Given the description of an element on the screen output the (x, y) to click on. 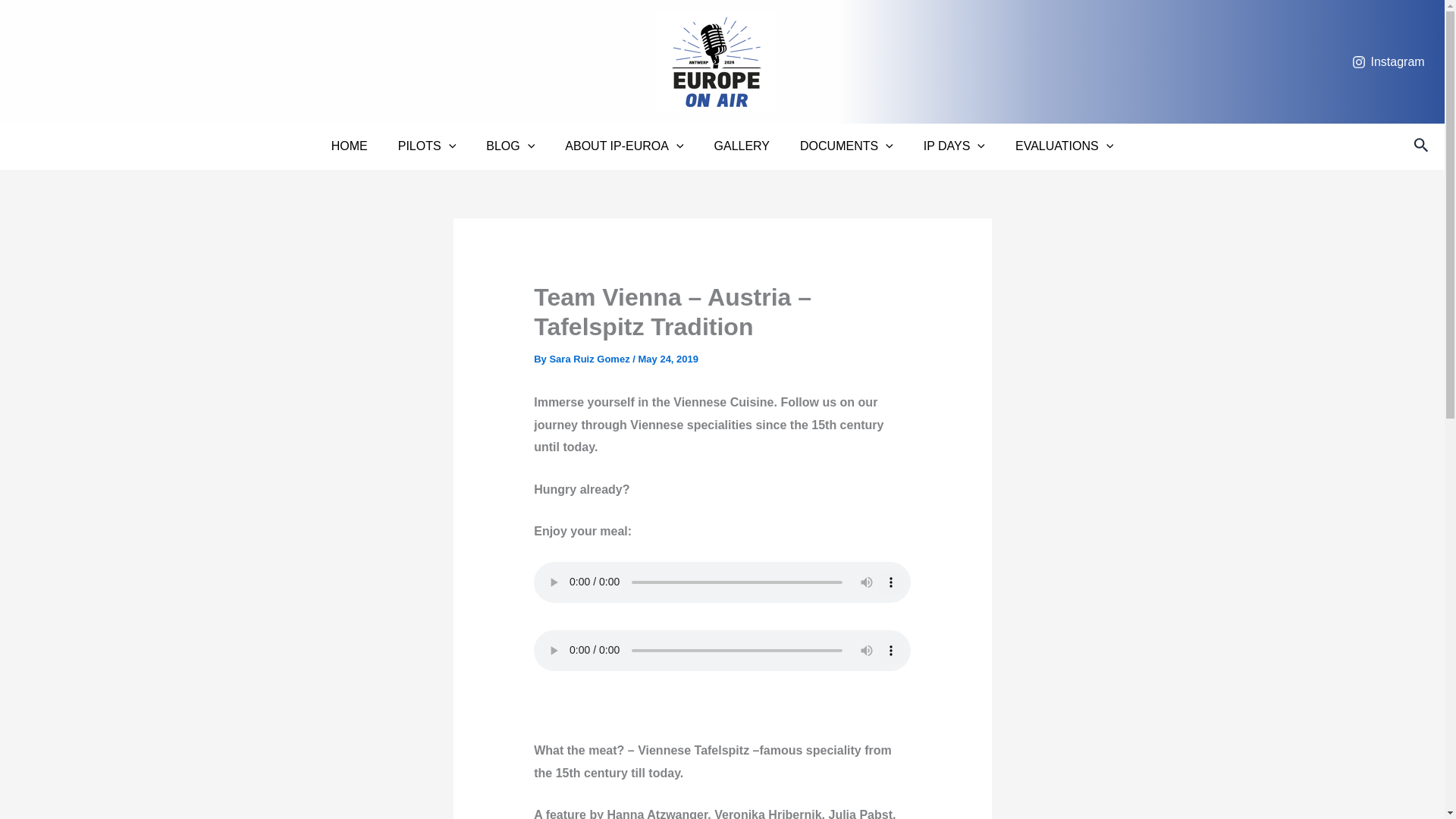
IP DAYS (954, 145)
View all posts by Sara Ruiz Gomez (589, 358)
GALLERY (742, 145)
PILOTS (426, 145)
HOME (348, 145)
BLOG (510, 145)
ABOUT IP-EUROA (624, 145)
DOCUMENTS (846, 145)
Instagram (1388, 61)
